Given the description of an element on the screen output the (x, y) to click on. 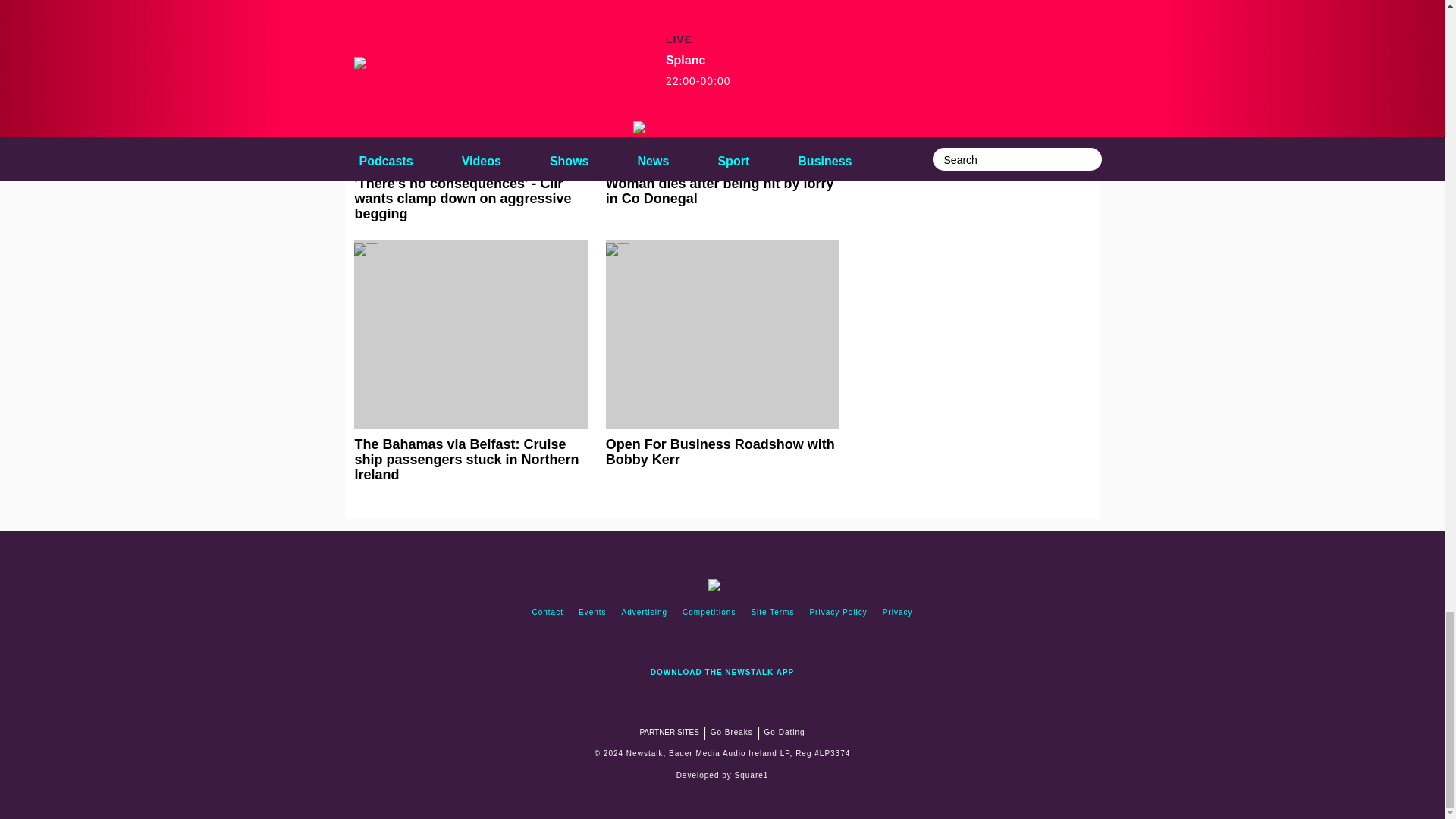
site terms (772, 612)
Privacy Policy (838, 612)
Privacy (897, 612)
contact (547, 612)
advertising (644, 612)
competitions (708, 612)
events (592, 612)
